Given the description of an element on the screen output the (x, y) to click on. 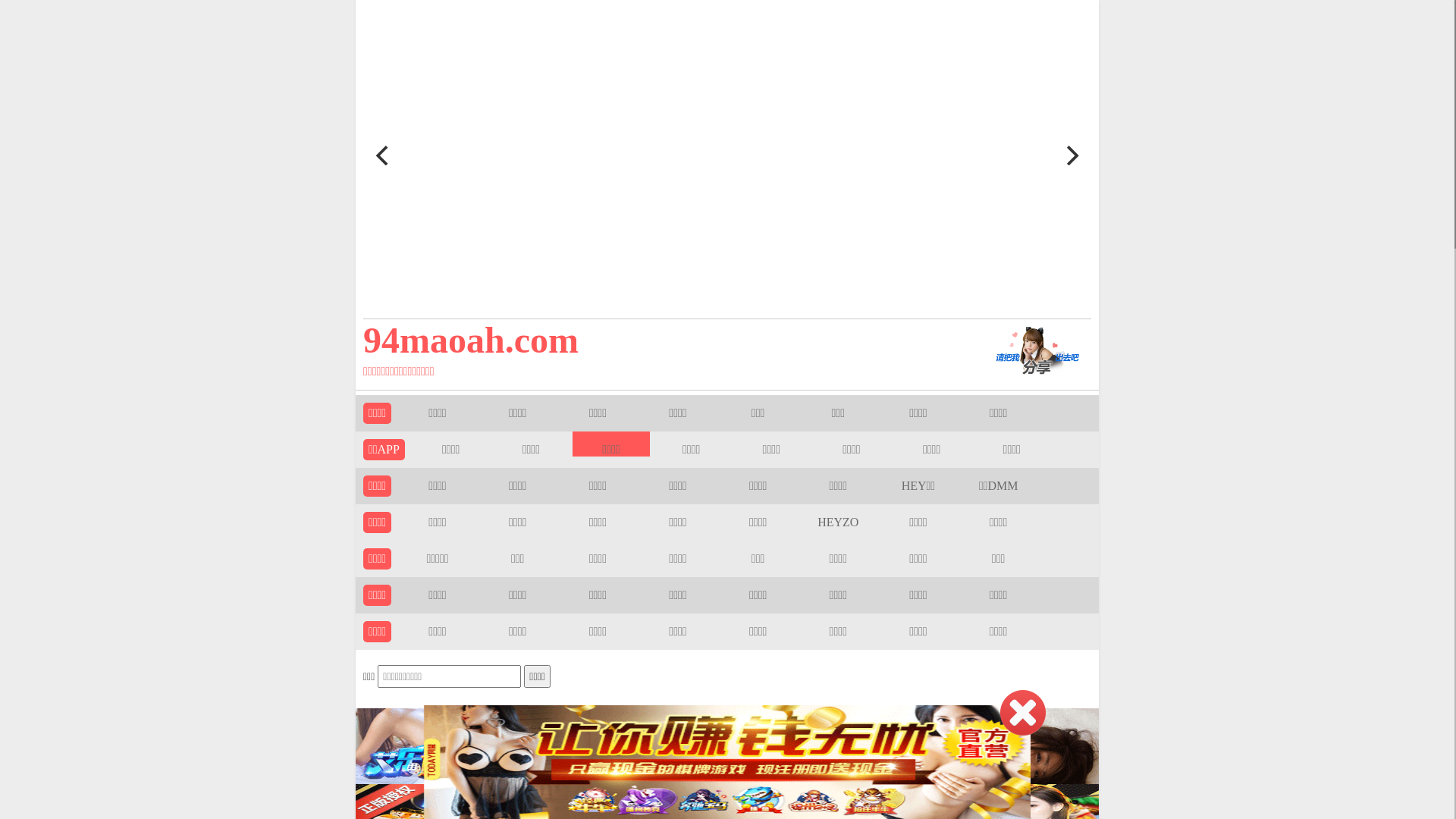
HEYZO Element type: text (837, 521)
94maoah.com Element type: text (654, 339)
